Given the description of an element on the screen output the (x, y) to click on. 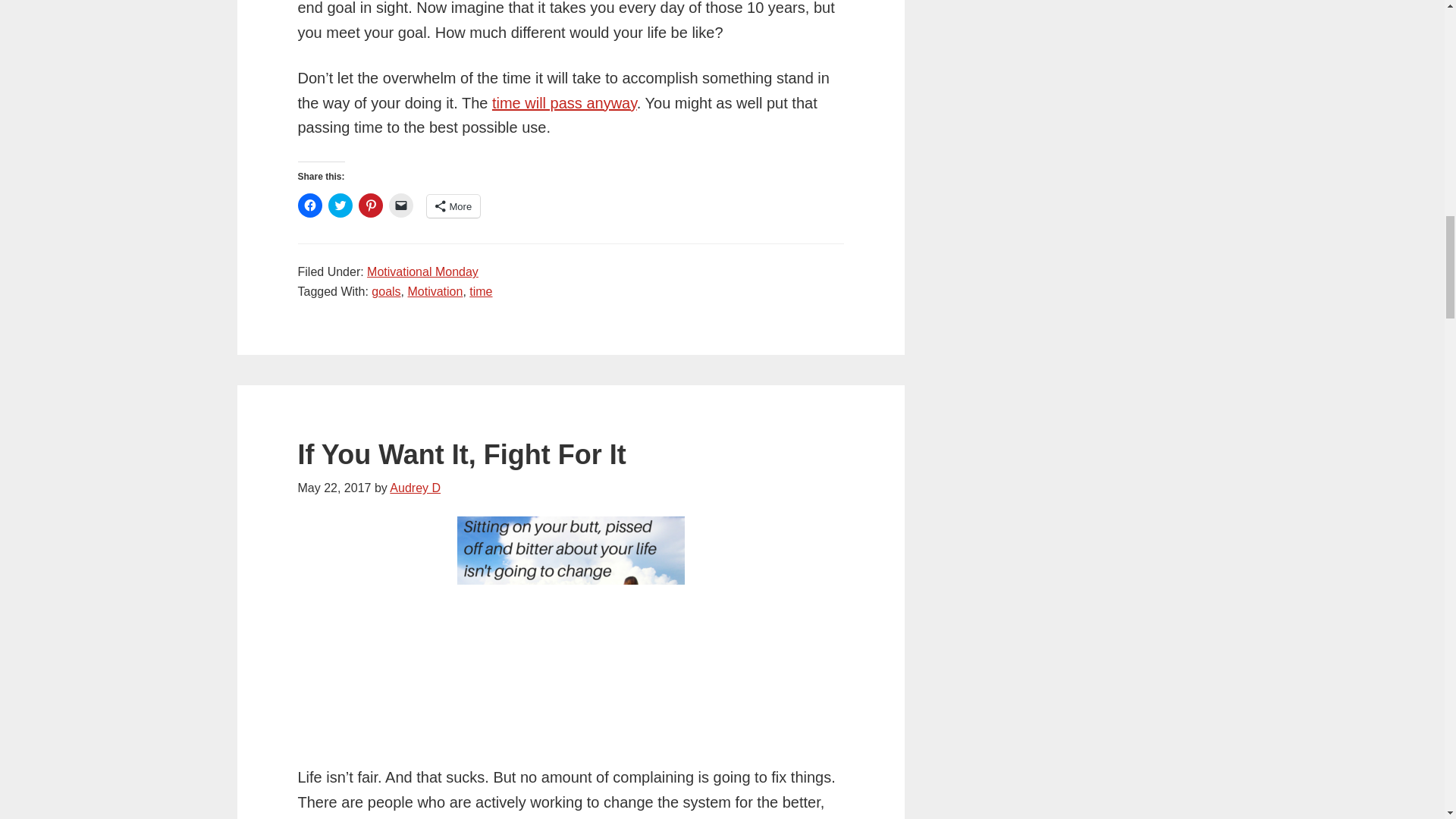
If You Want It, Fight For It (461, 454)
Click to share on Facebook (309, 205)
Motivational Monday (422, 271)
Click to email a link to a friend (400, 205)
Motivation (435, 291)
goals (385, 291)
time will pass anyway (564, 103)
Click to share on Twitter (339, 205)
More (453, 205)
Click to share on Pinterest (369, 205)
